Given the description of an element on the screen output the (x, y) to click on. 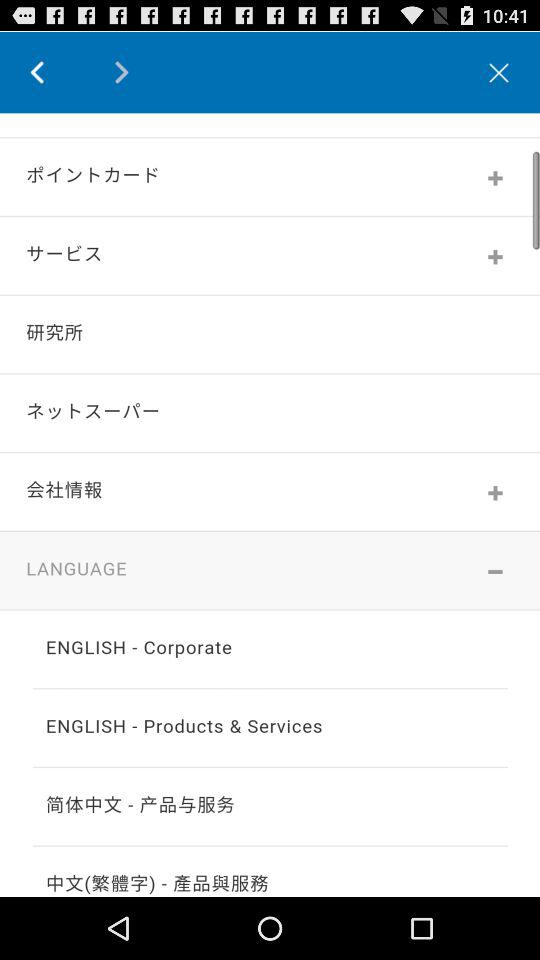
go back (52, 71)
